Given the description of an element on the screen output the (x, y) to click on. 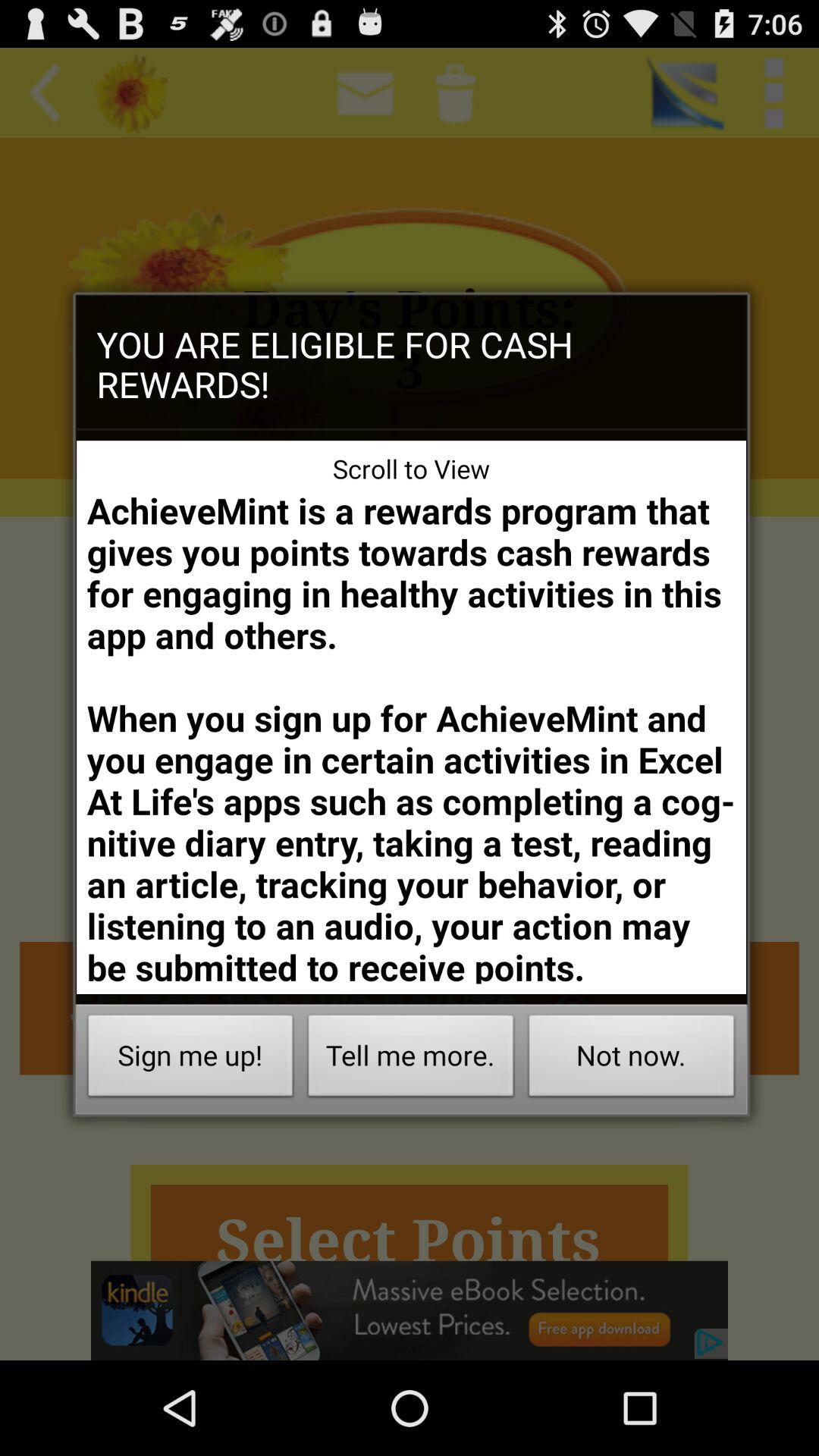
swipe until tell me more. button (410, 1059)
